Given the description of an element on the screen output the (x, y) to click on. 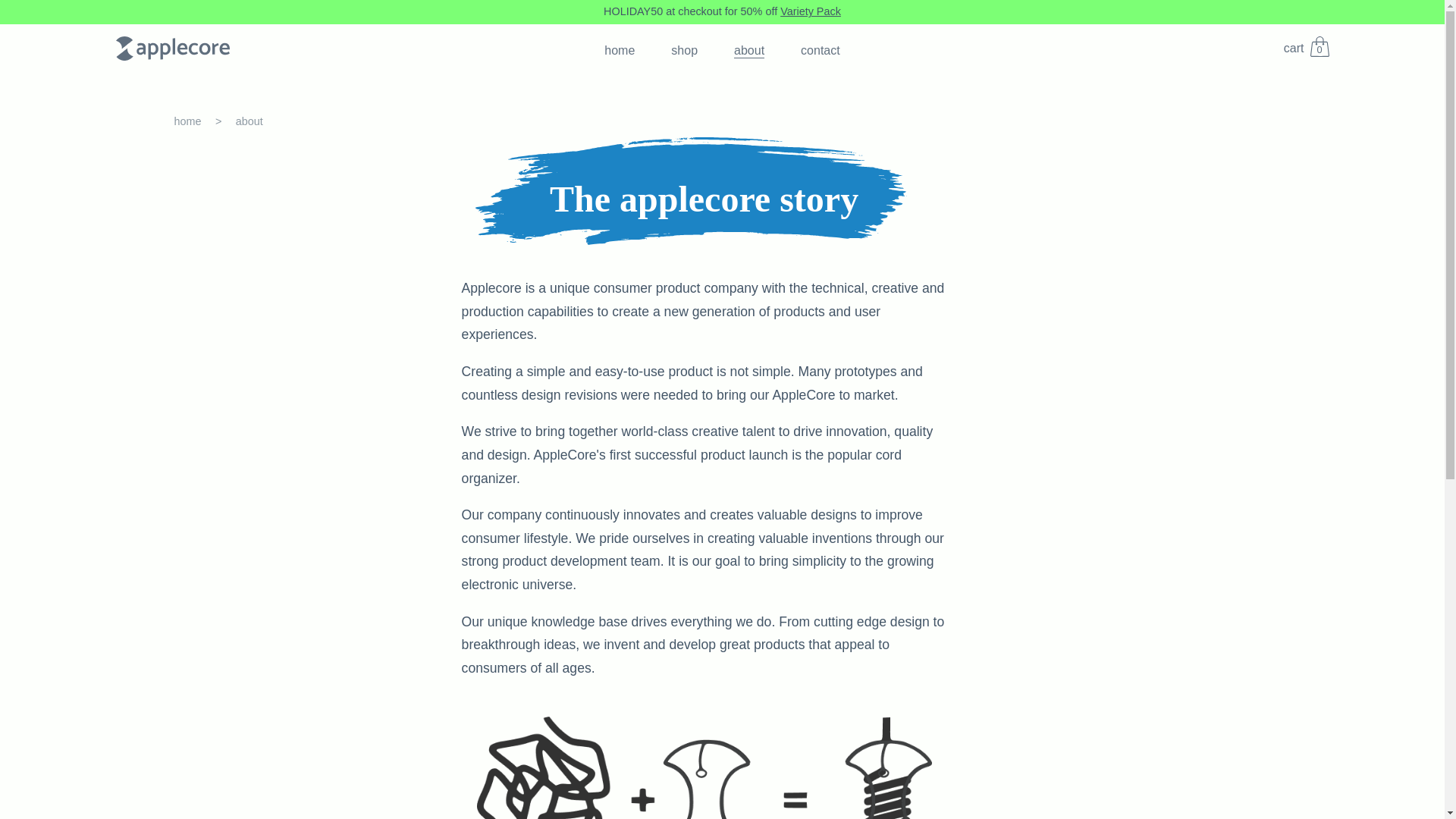
home (204, 121)
Variety Pack (810, 10)
about (748, 50)
contact (820, 50)
home (619, 50)
about (260, 121)
shop (1306, 48)
